Given the description of an element on the screen output the (x, y) to click on. 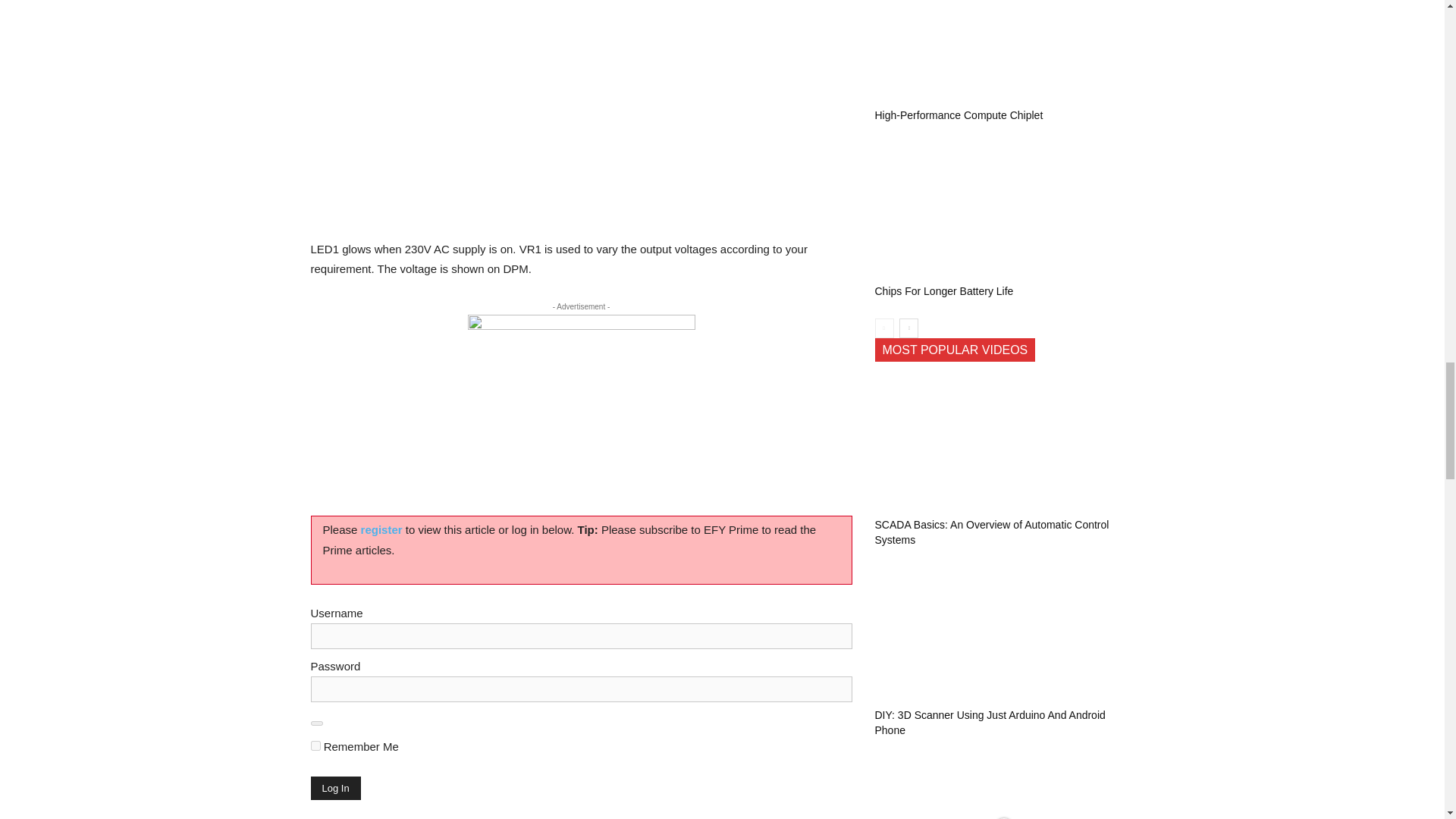
forever (315, 746)
Log In (336, 788)
